Given the description of an element on the screen output the (x, y) to click on. 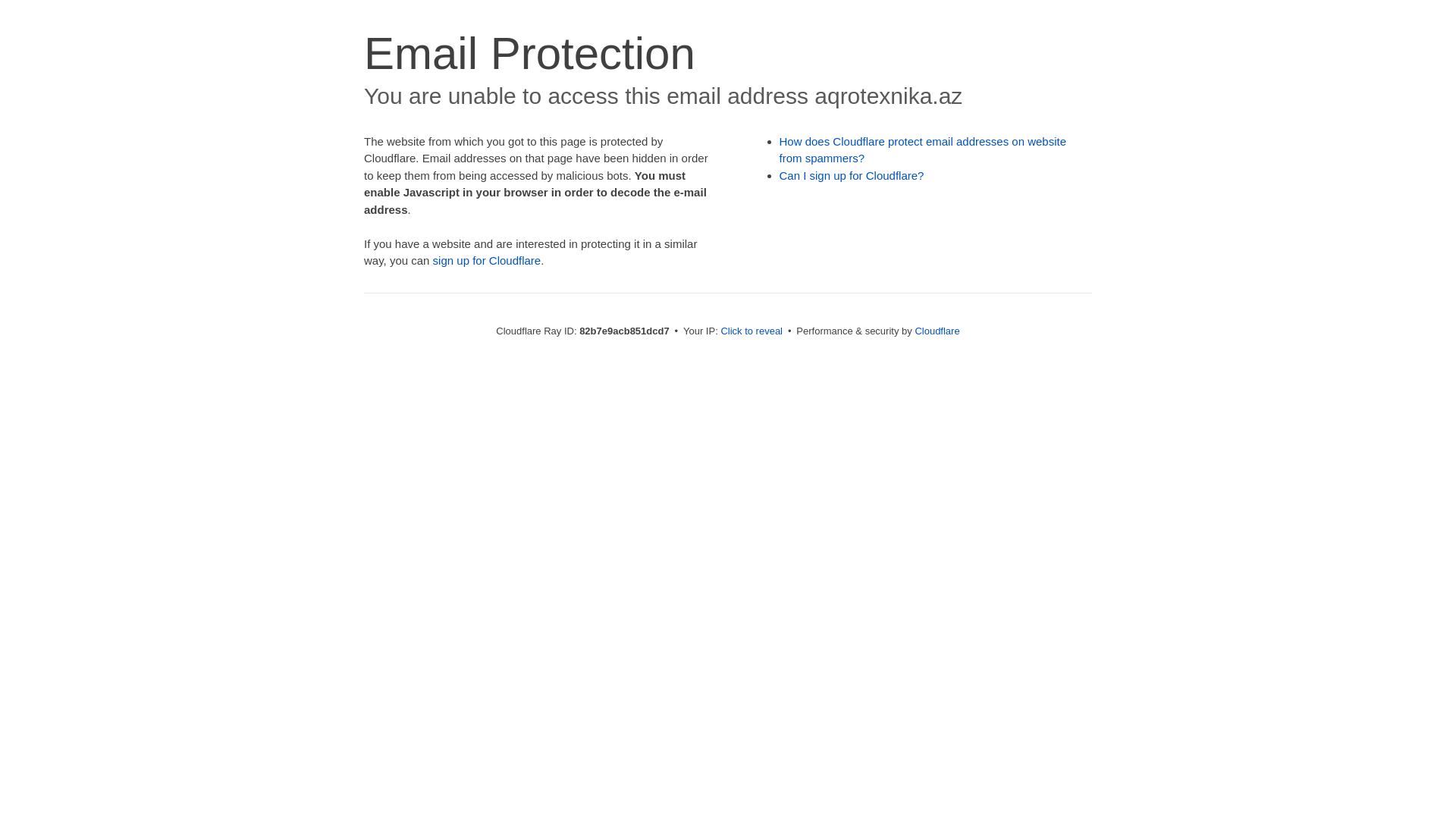
Click to reveal Element type: text (751, 330)
sign up for Cloudflare Element type: text (487, 260)
Cloudflare Element type: text (936, 330)
Can I sign up for Cloudflare? Element type: text (851, 175)
